Given the description of an element on the screen output the (x, y) to click on. 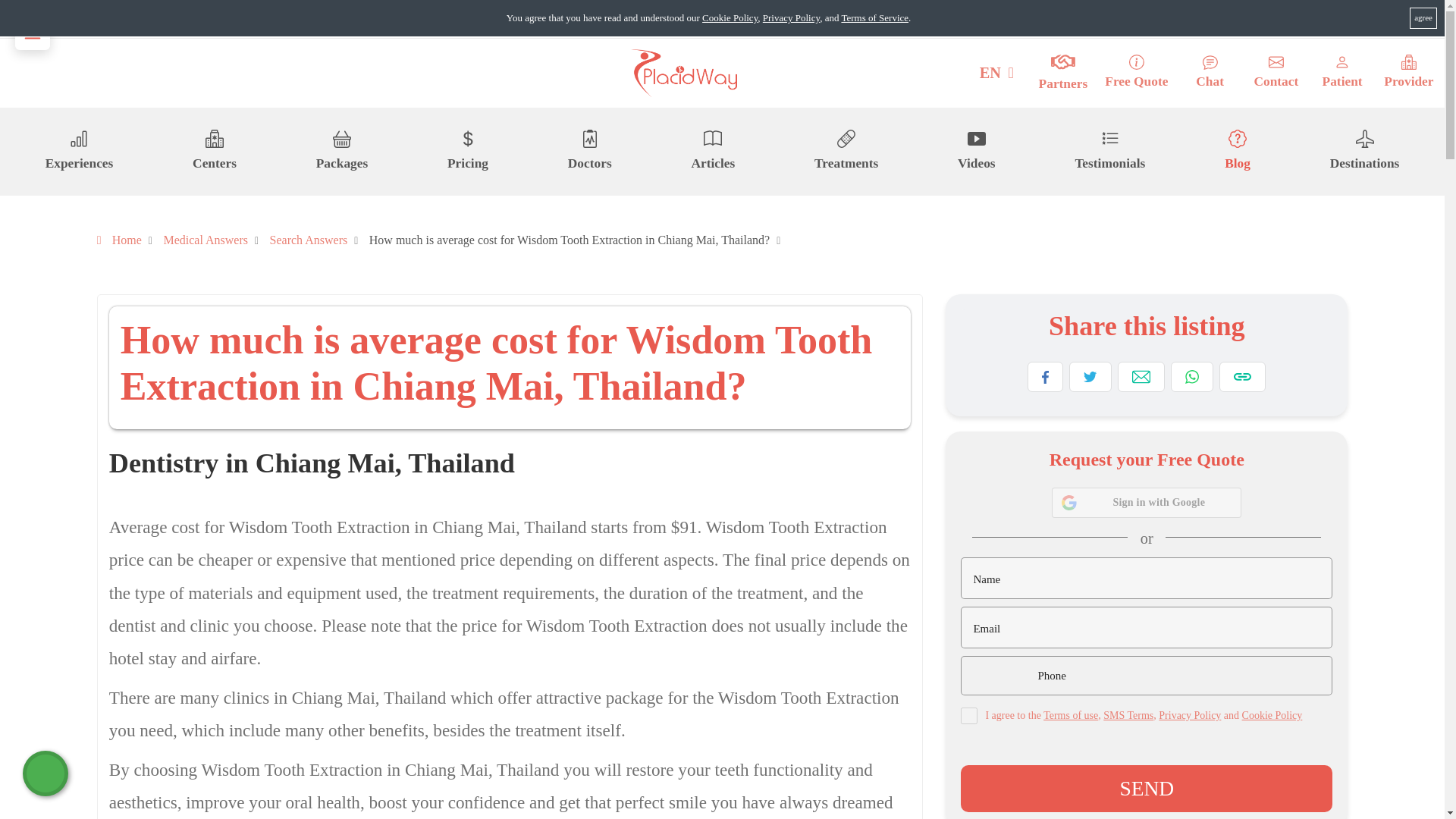
Chat (1210, 72)
Cookie Policy (729, 17)
Doctors (589, 151)
Treatments (845, 151)
Pricing (466, 151)
Free Quote (1136, 72)
Contact (1275, 72)
Centers (213, 151)
on (968, 715)
Testimonials (1109, 151)
